Given the description of an element on the screen output the (x, y) to click on. 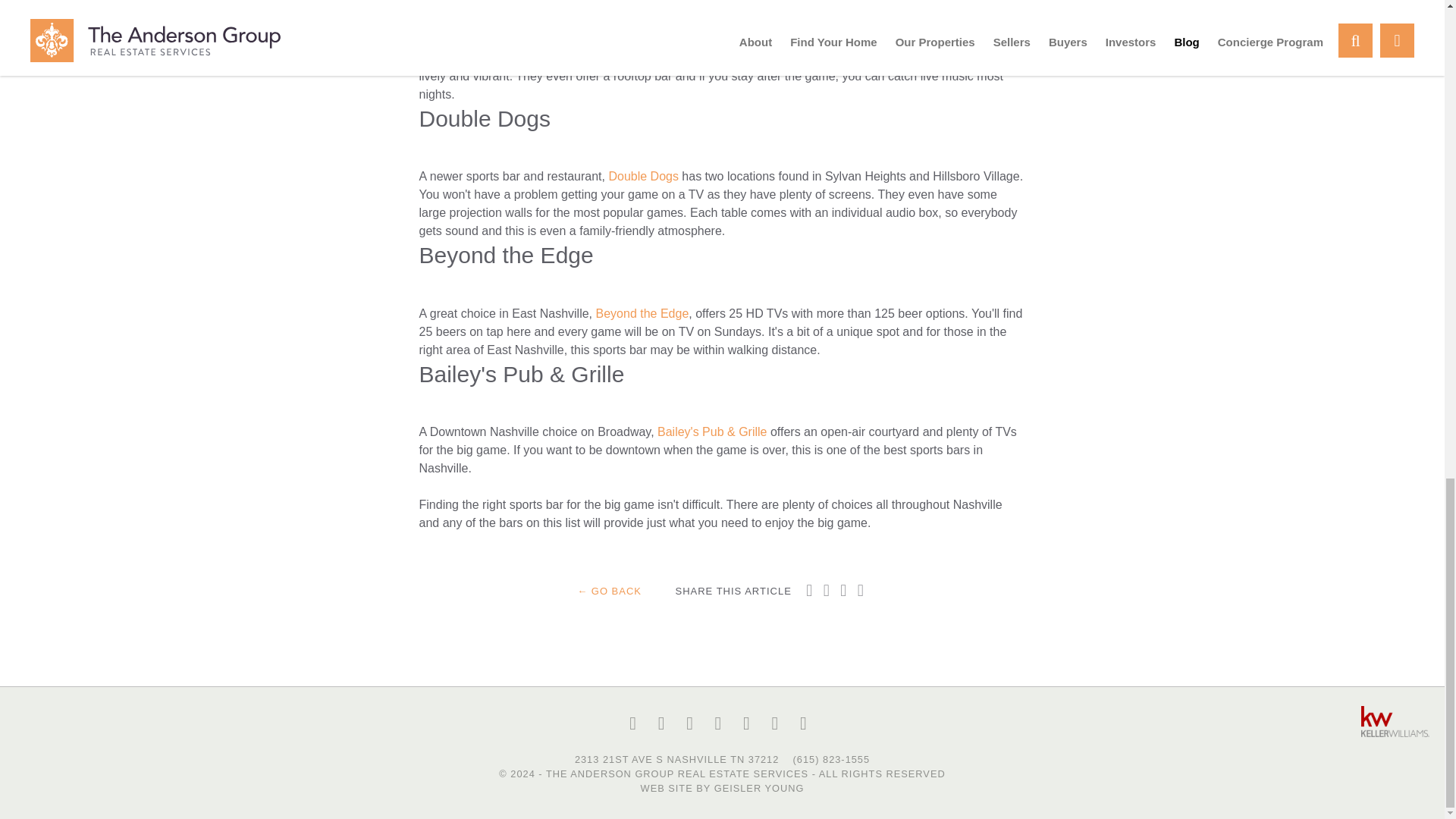
Dawg House Saloon (702, 38)
Beyond the Edge (641, 313)
Double Dogs (643, 175)
